Given the description of an element on the screen output the (x, y) to click on. 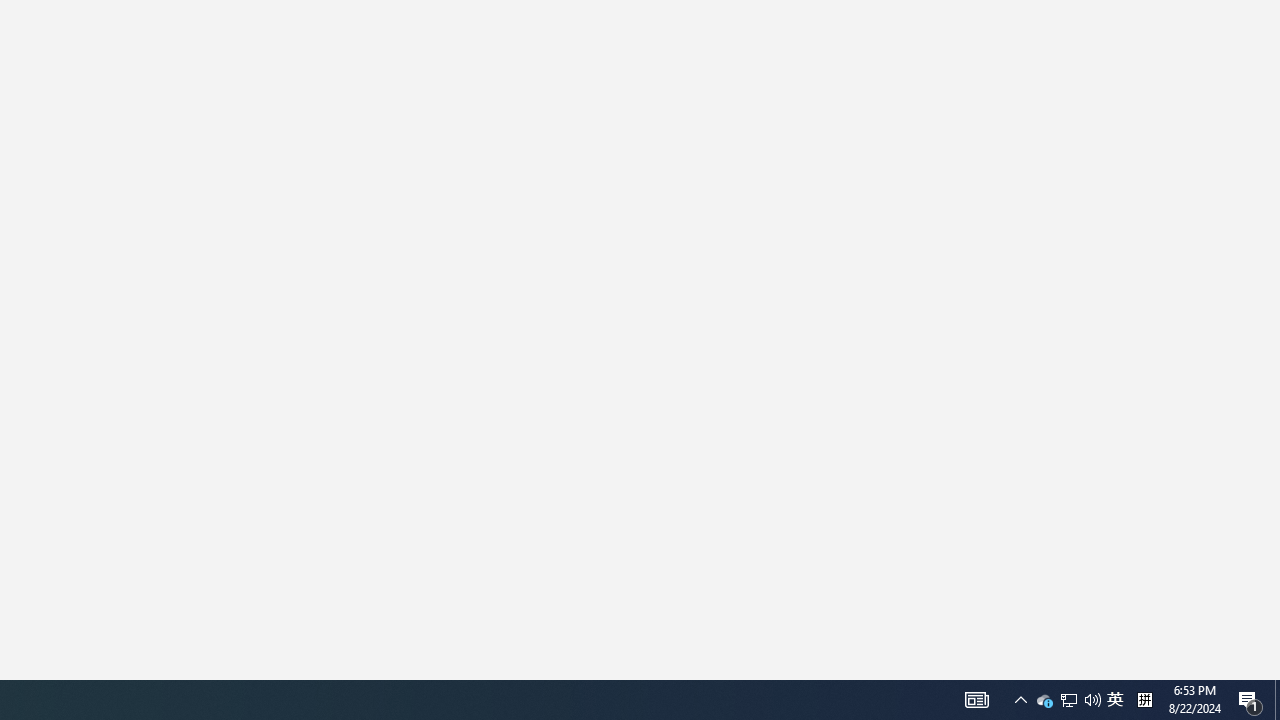
Action Center, 1 new notification (1044, 699)
